Given the description of an element on the screen output the (x, y) to click on. 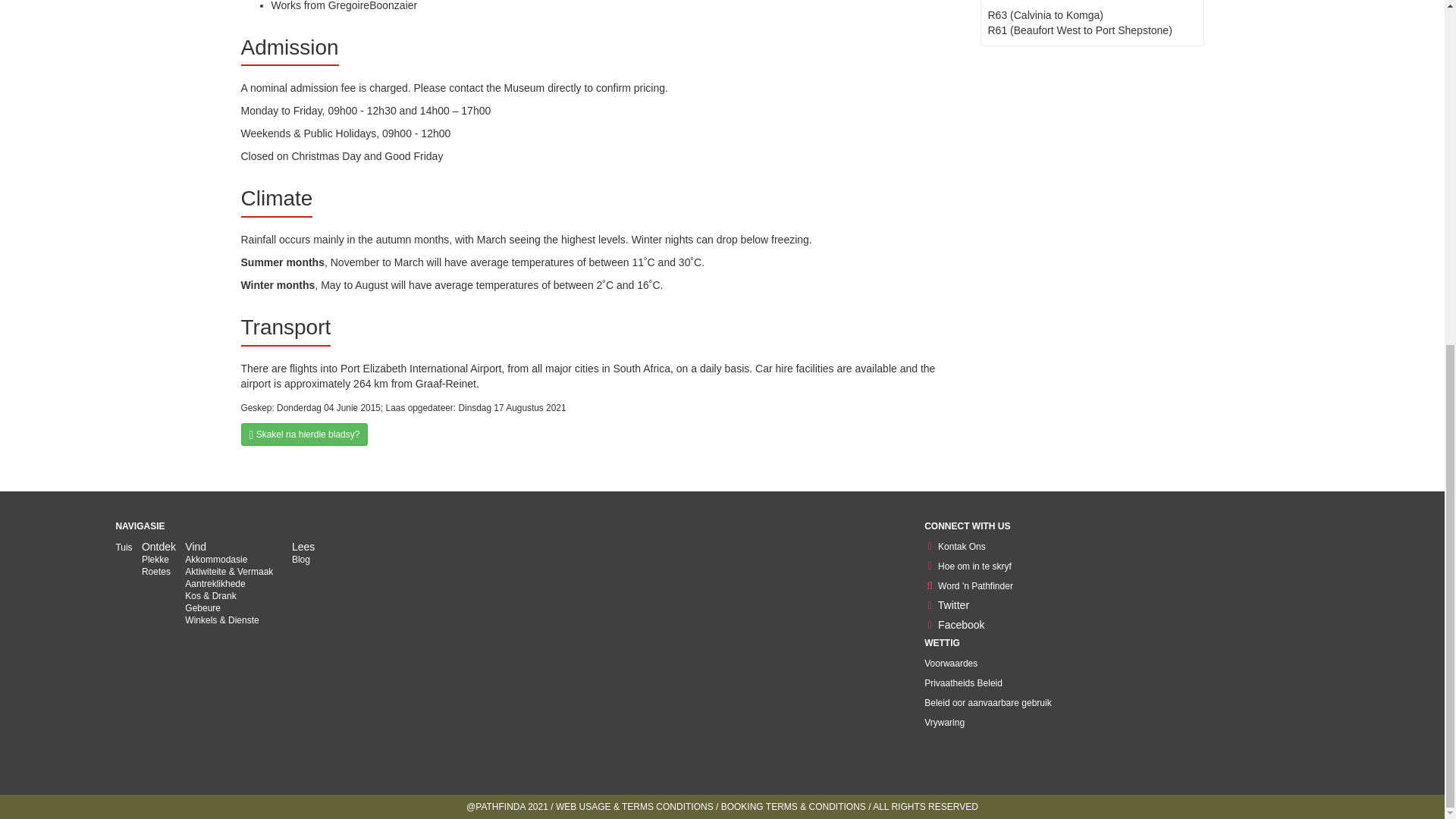
Aantreklikhede (214, 583)
Akkommodasie (215, 559)
Plekke (154, 559)
Roetes (155, 571)
Skakel na hierdie bladsy? (304, 434)
Tuis (123, 547)
Gebeure (202, 607)
